Given the description of an element on the screen output the (x, y) to click on. 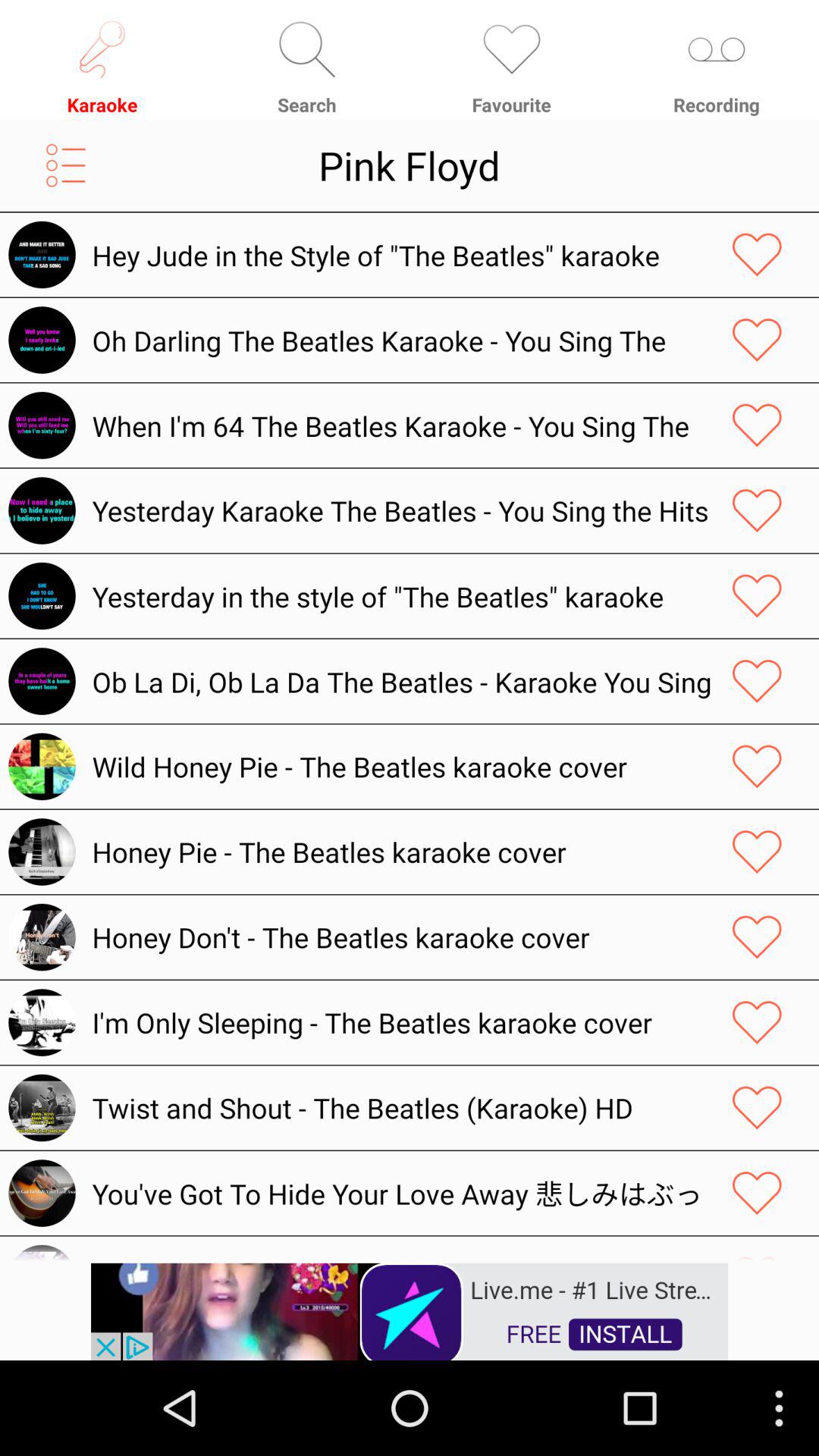
favorite selection (756, 425)
